Given the description of an element on the screen output the (x, y) to click on. 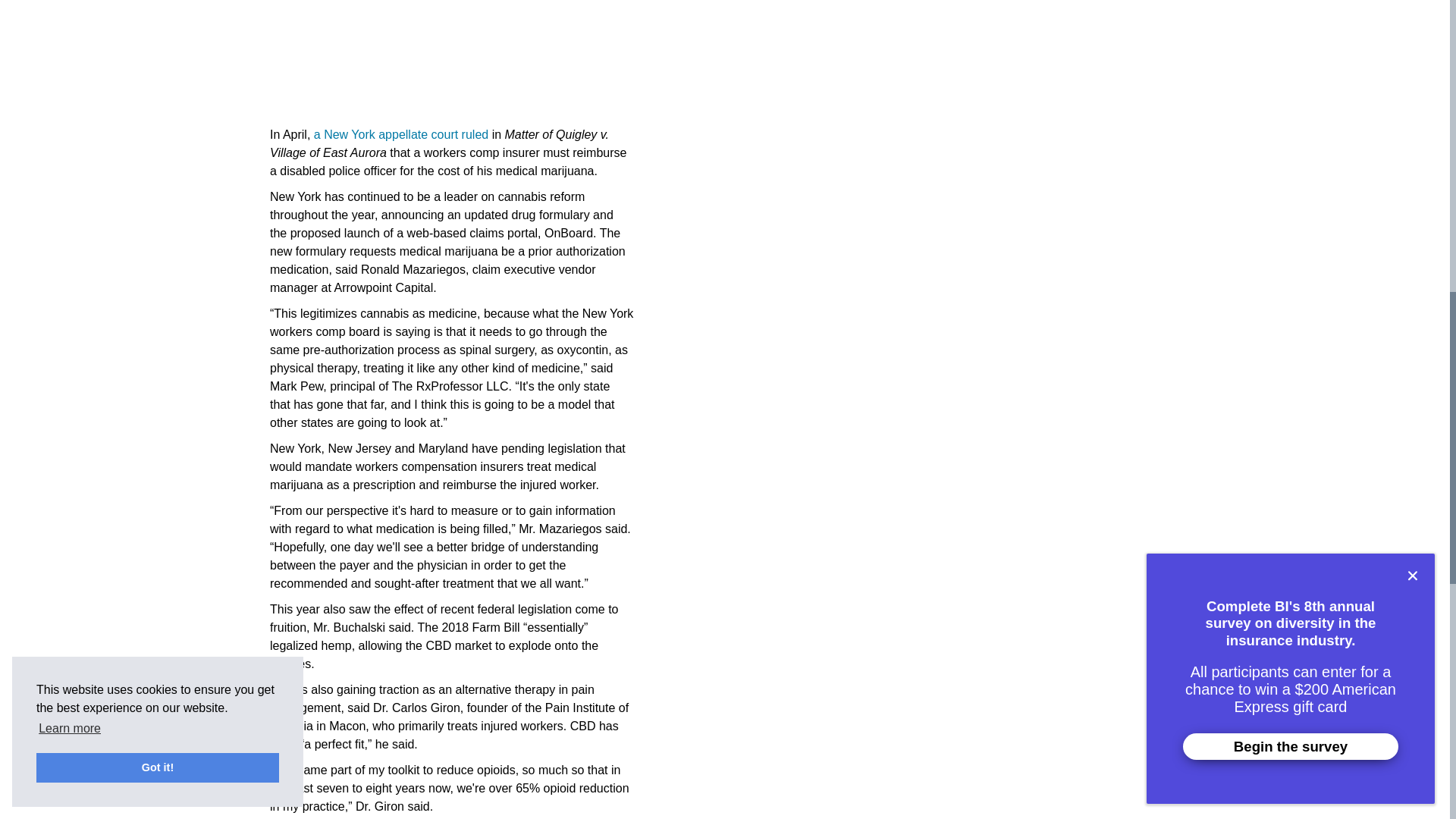
3rd party ad content (383, 58)
